Given the description of an element on the screen output the (x, y) to click on. 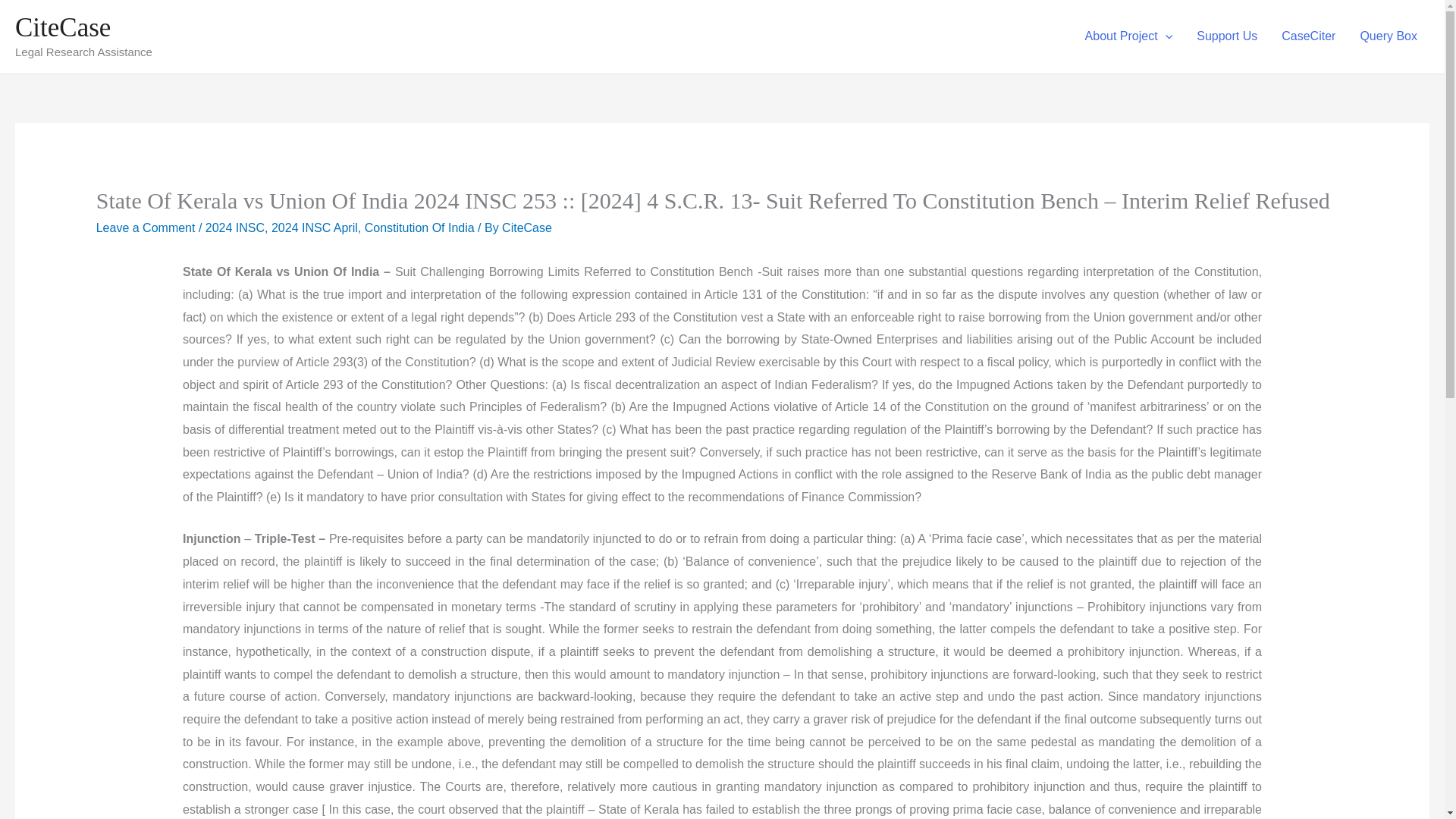
View all posts by CiteCase (526, 227)
CaseCiter (1308, 35)
Query Box (1388, 35)
CiteCase (62, 27)
About Project (1129, 35)
Support Us (1227, 35)
